Given the description of an element on the screen output the (x, y) to click on. 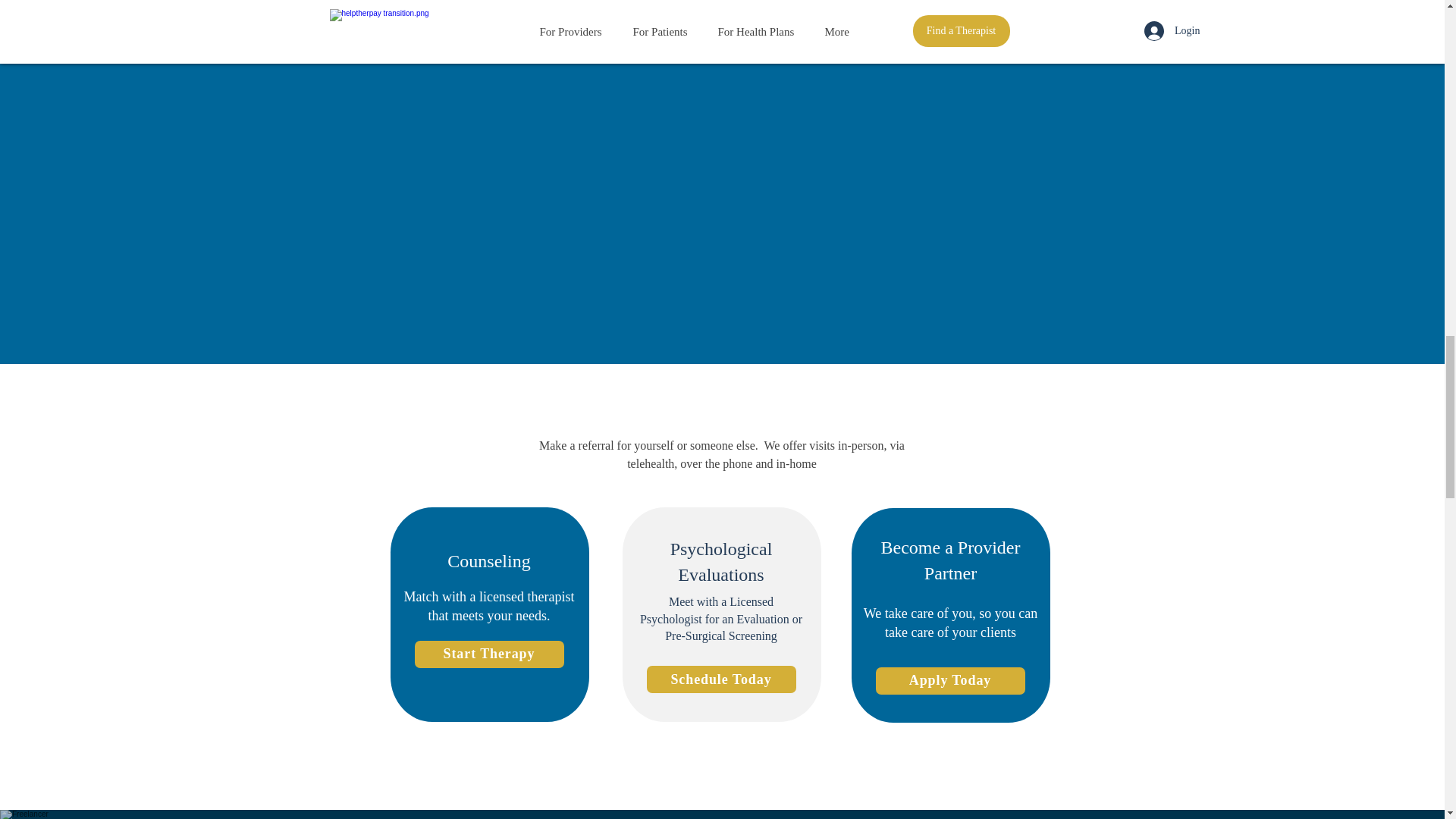
Apply Today (950, 680)
Schedule Today (720, 678)
Start Therapy (488, 654)
